Given the description of an element on the screen output the (x, y) to click on. 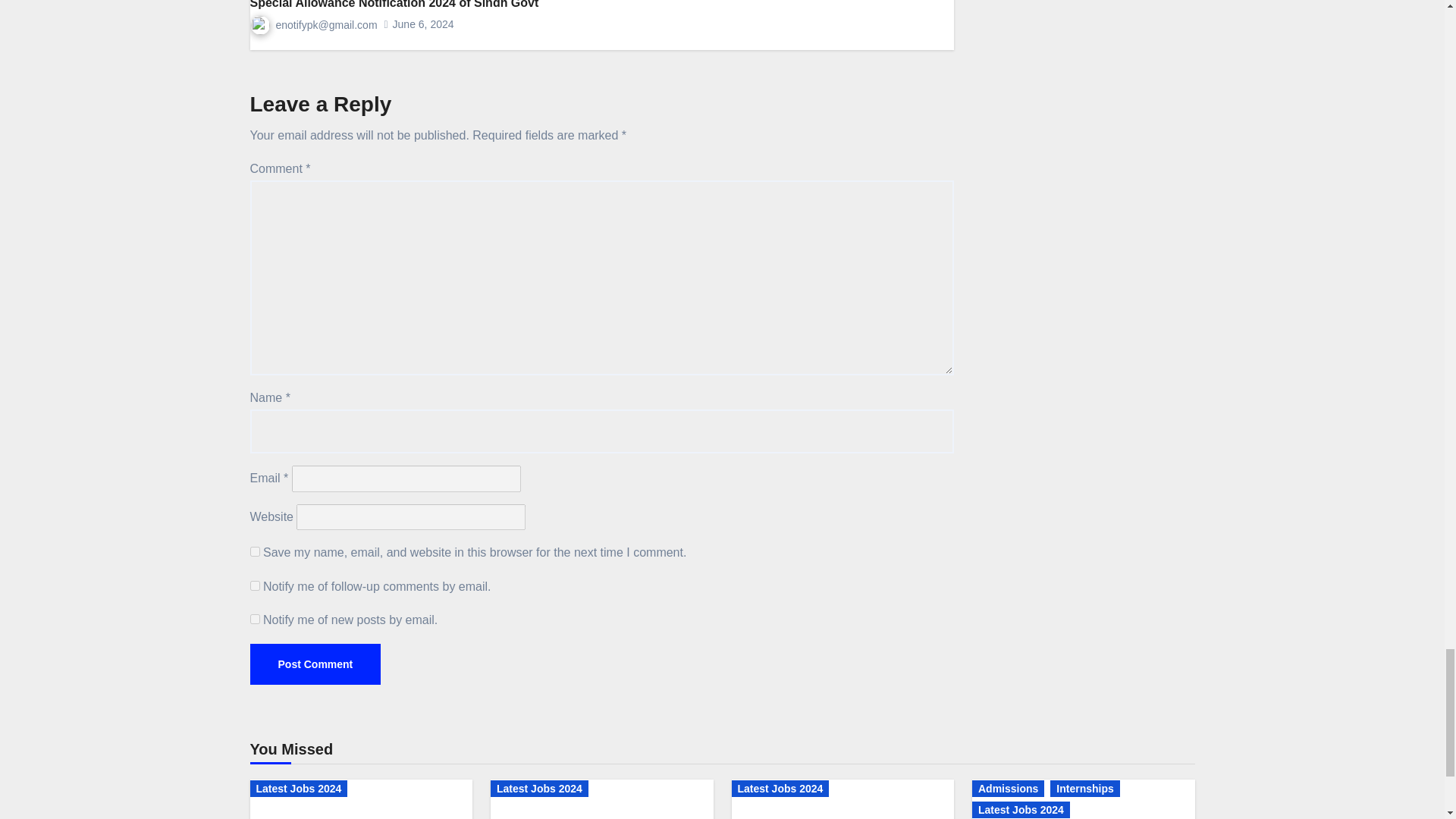
subscribe (255, 585)
Post Comment (315, 663)
yes (255, 551)
subscribe (255, 619)
